Given the description of an element on the screen output the (x, y) to click on. 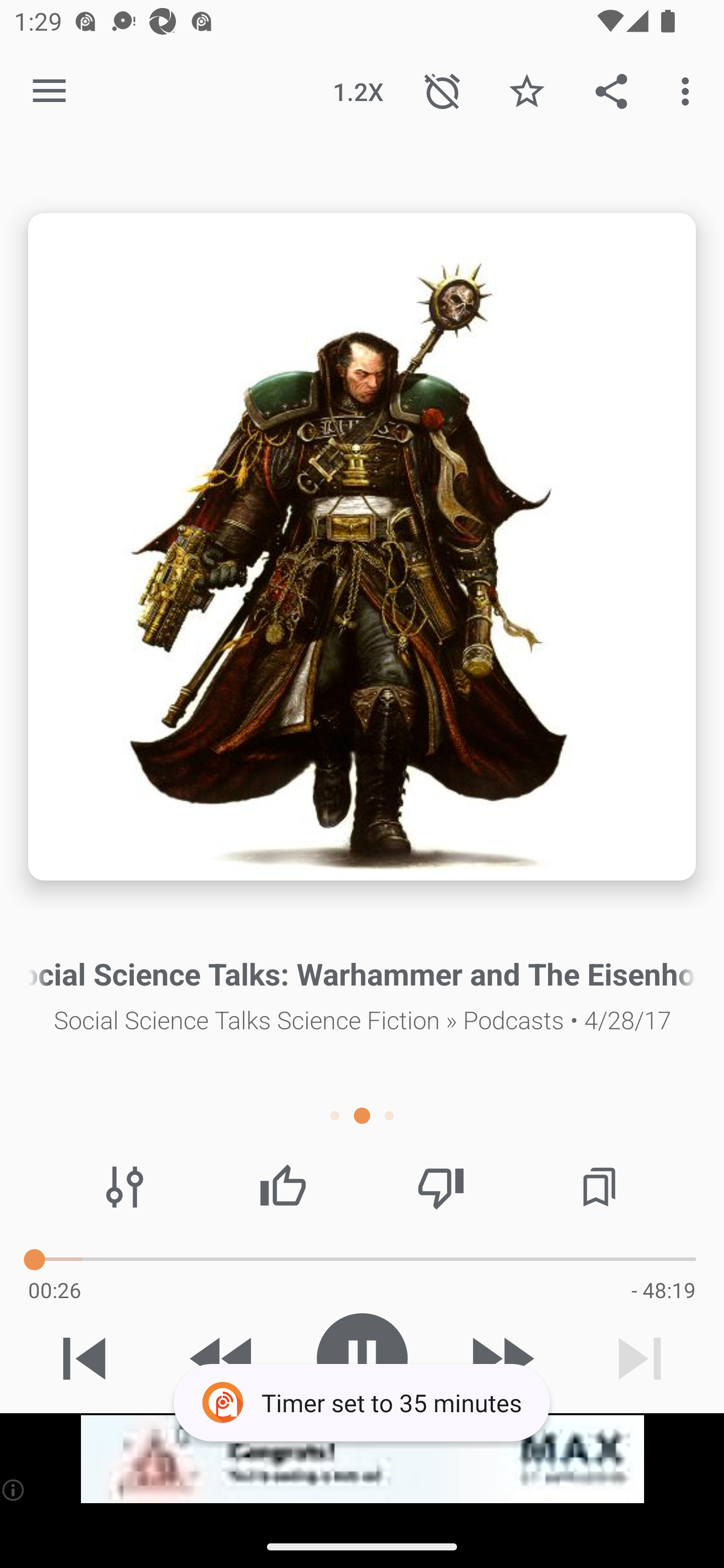
Open navigation sidebar (49, 91)
1.2X (357, 90)
Sleep Timer (442, 90)
Favorite (526, 90)
Share (611, 90)
More options (688, 90)
Episode description (361, 547)
Audio effects (124, 1186)
Thumbs up (283, 1186)
Thumbs down (440, 1186)
Chapters / Bookmarks (598, 1186)
- 48:19 (663, 1289)
Previous track (84, 1358)
Next track (639, 1358)
app-monetization (362, 1459)
(i) (14, 1489)
